Given the description of an element on the screen output the (x, y) to click on. 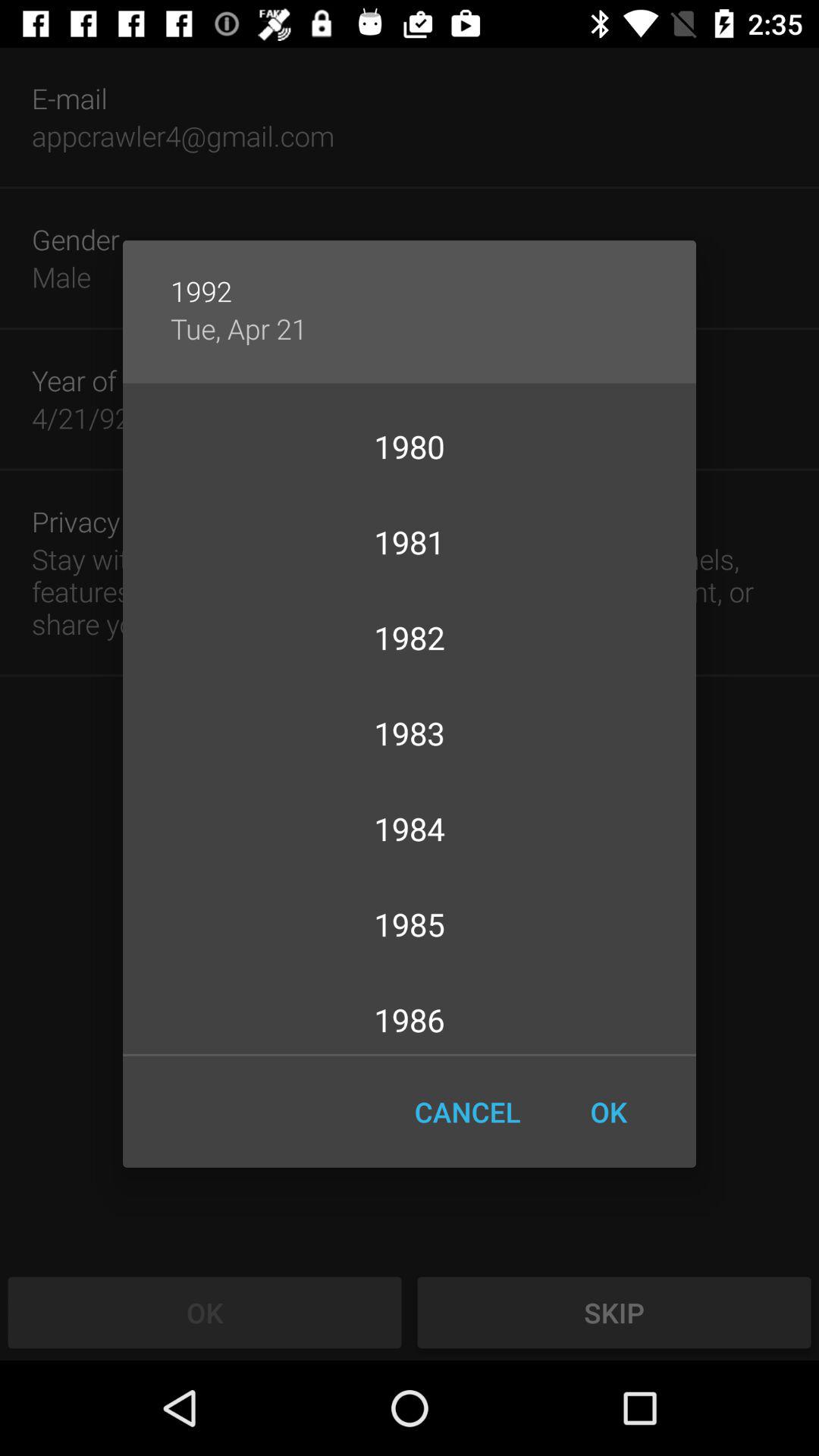
scroll until cancel (467, 1111)
